Given the description of an element on the screen output the (x, y) to click on. 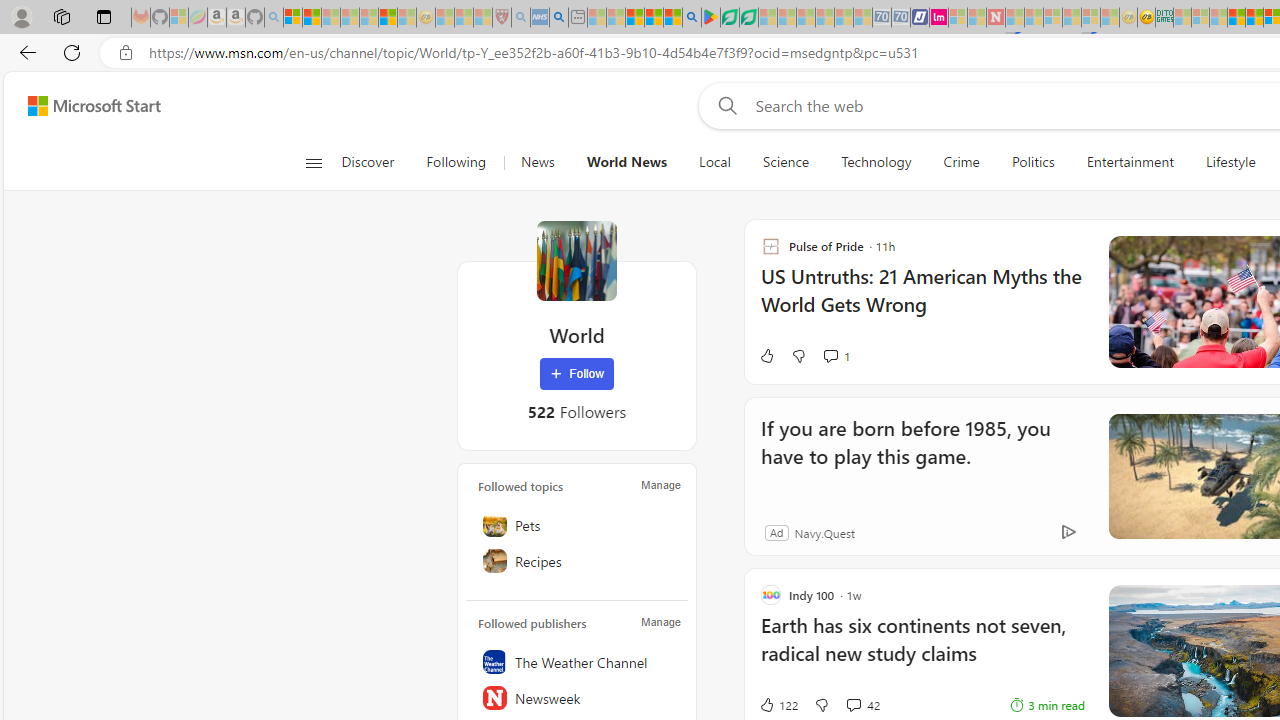
Terms of Use Agreement (729, 17)
The Weather Channel (577, 661)
